Given the description of an element on the screen output the (x, y) to click on. 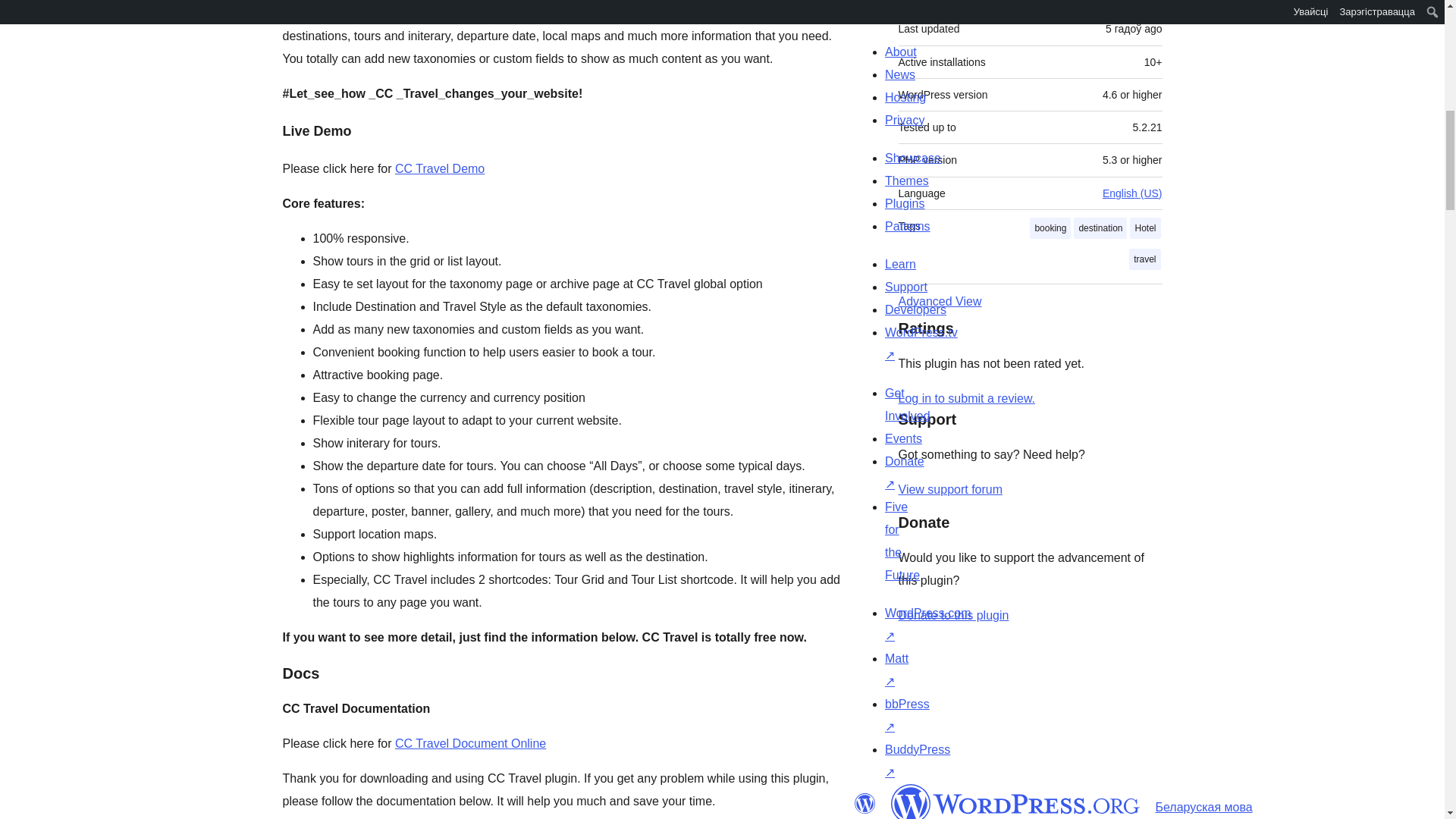
CC Travel Demo (439, 168)
WordPress.org (1014, 801)
CC Travel Document Online (470, 743)
WordPress.org (864, 803)
Log in to WordPress.org (966, 398)
